Given the description of an element on the screen output the (x, y) to click on. 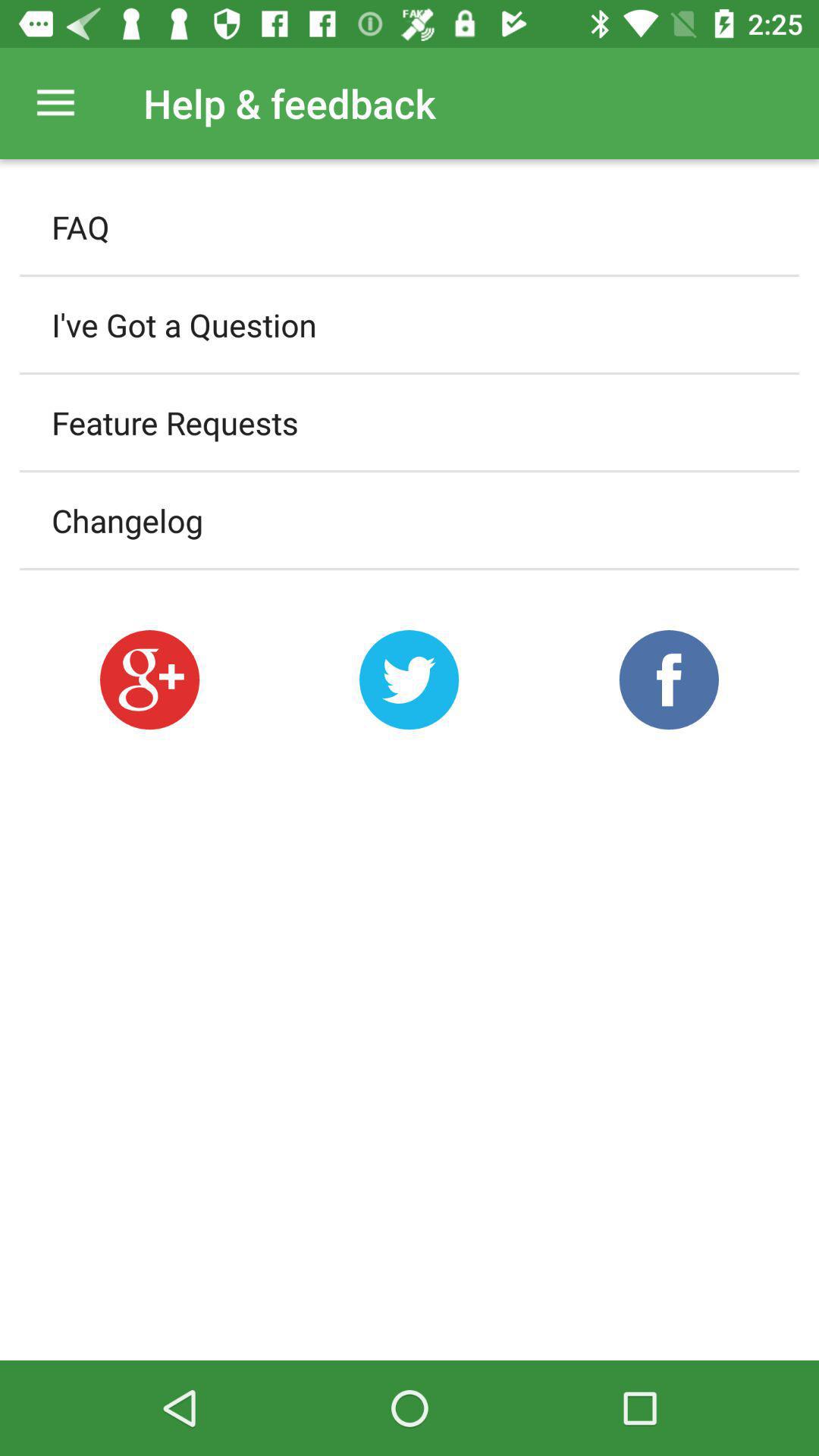
turn off icon at the top left corner (55, 103)
